Given the description of an element on the screen output the (x, y) to click on. 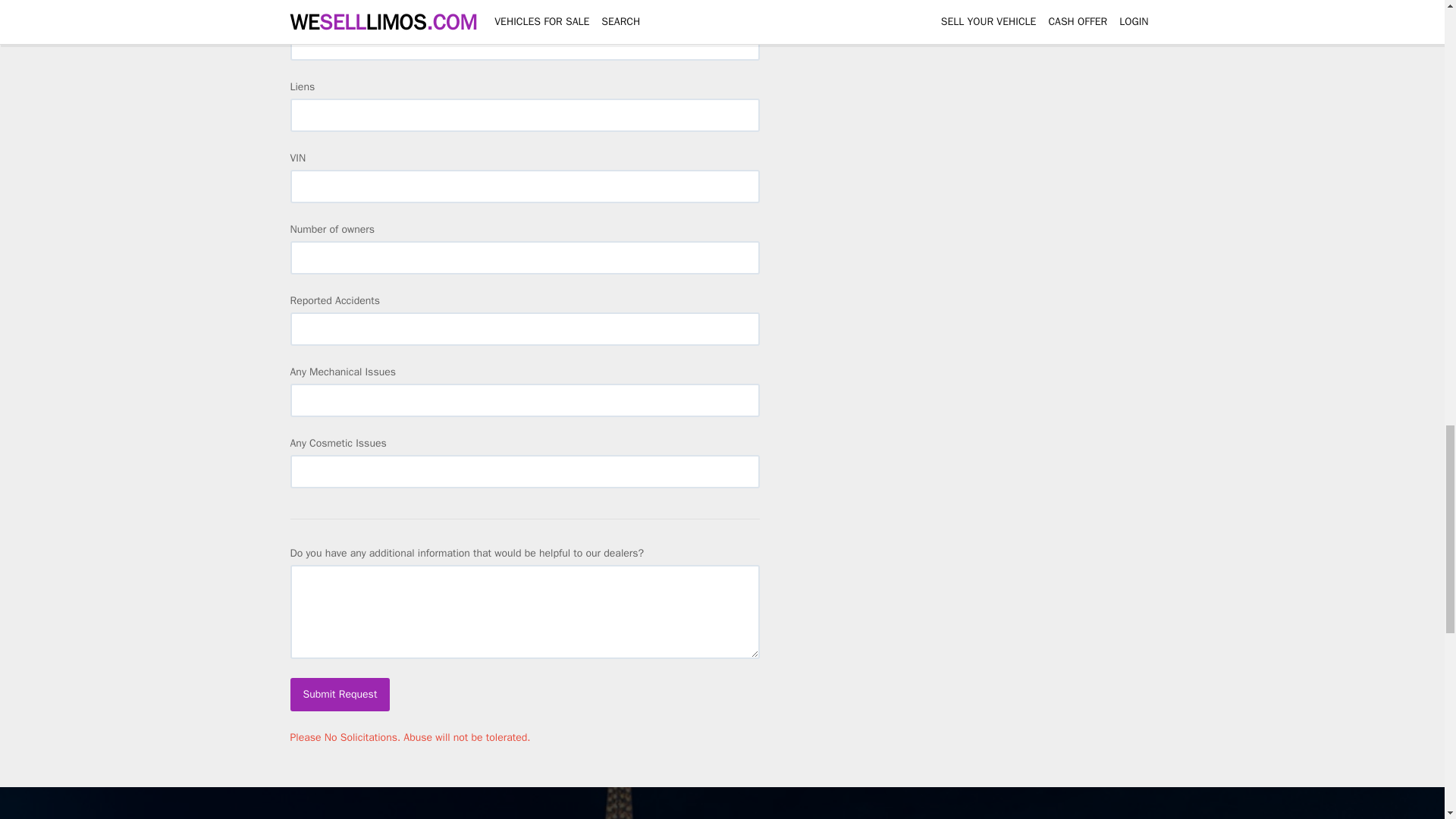
Submit Request (339, 694)
